Given the description of an element on the screen output the (x, y) to click on. 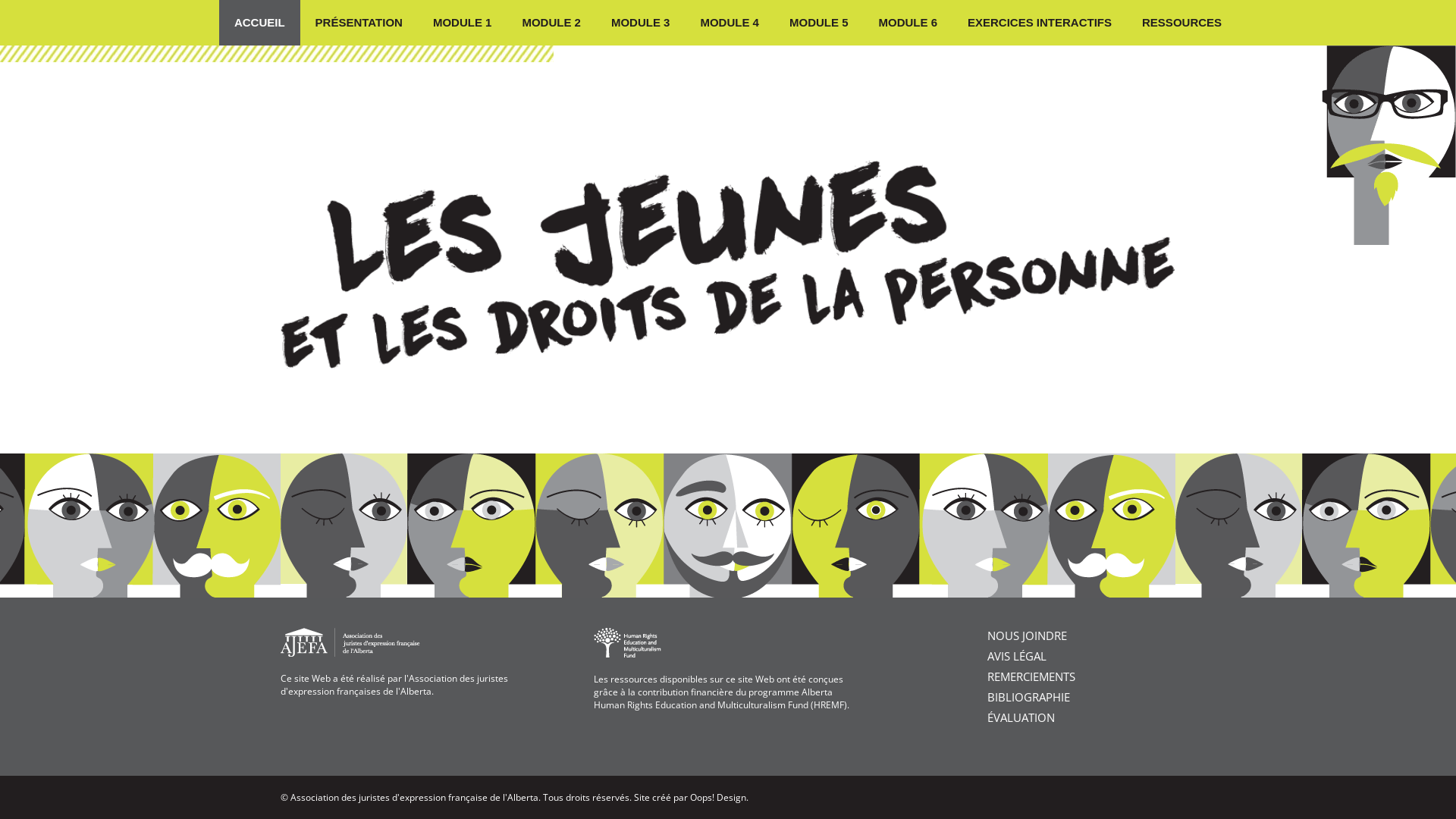
BIBLIOGRAPHIE Element type: text (1028, 696)
MODULE 2 Element type: text (551, 22)
Oops! Design. Element type: text (719, 796)
MODULE 6 Element type: text (907, 22)
MODULE 1 Element type: text (462, 22)
MODULE 5 Element type: text (818, 22)
NOUS JOINDRE Element type: text (1026, 635)
MODULE 4 Element type: text (729, 22)
MODULE 3 Element type: text (640, 22)
RESSOURCES Element type: text (1181, 22)
EXERCICES INTERACTIFS Element type: text (1039, 22)
REMERCIEMENTS Element type: text (1031, 676)
